Given the description of an element on the screen output the (x, y) to click on. 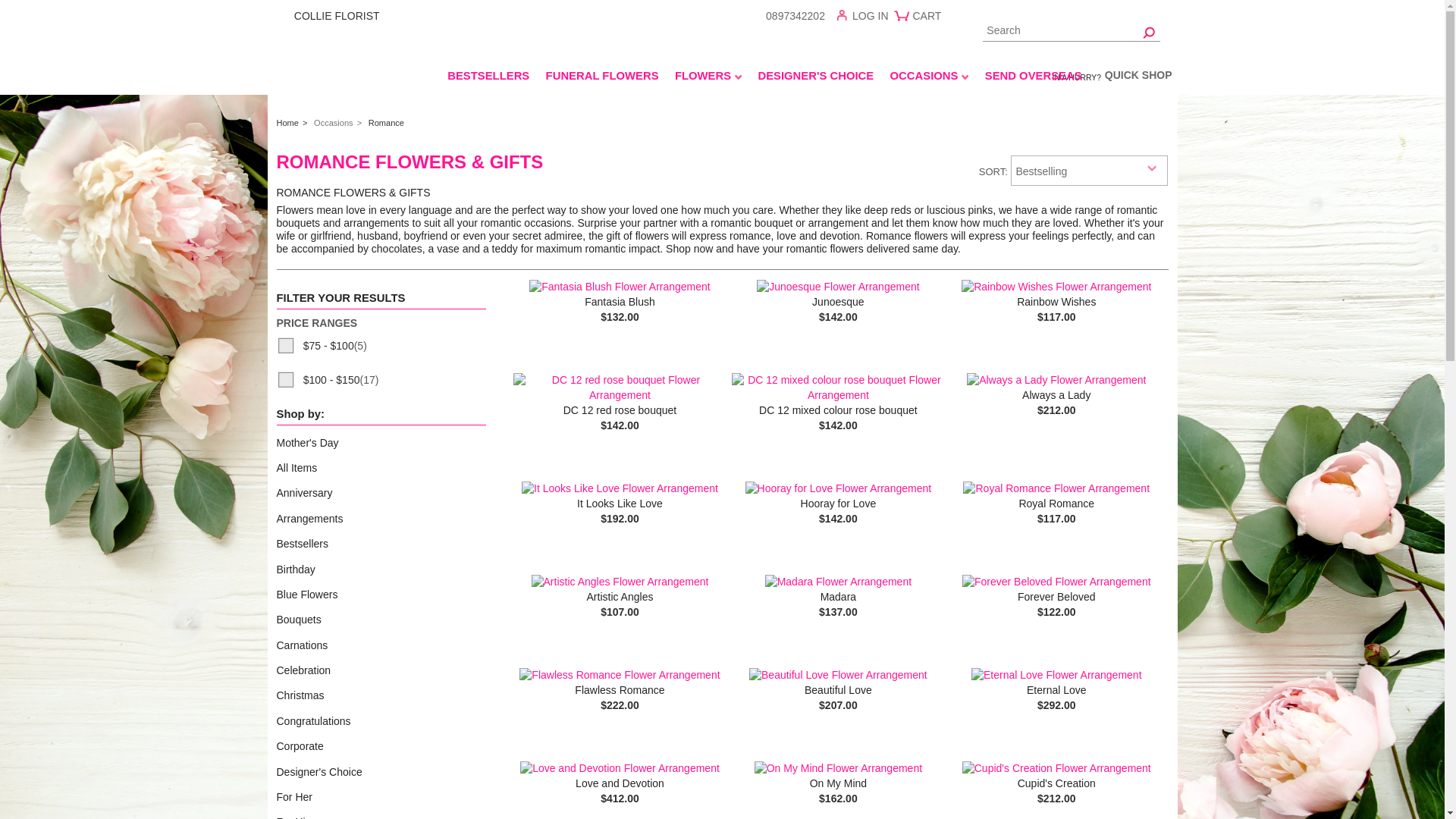
Quick Shop (1138, 77)
DESIGNER'S CHOICE (815, 78)
FUNERAL FLOWERS (601, 78)
0897342202 (795, 15)
CART (919, 21)
FLOWERS (707, 78)
COLLIE FLORIST (363, 15)
LOG IN (866, 18)
Sort By (1088, 170)
OCCASIONS (928, 78)
Go (1149, 32)
log In (866, 18)
Search (1071, 31)
BESTSELLERS (488, 78)
